Given the description of an element on the screen output the (x, y) to click on. 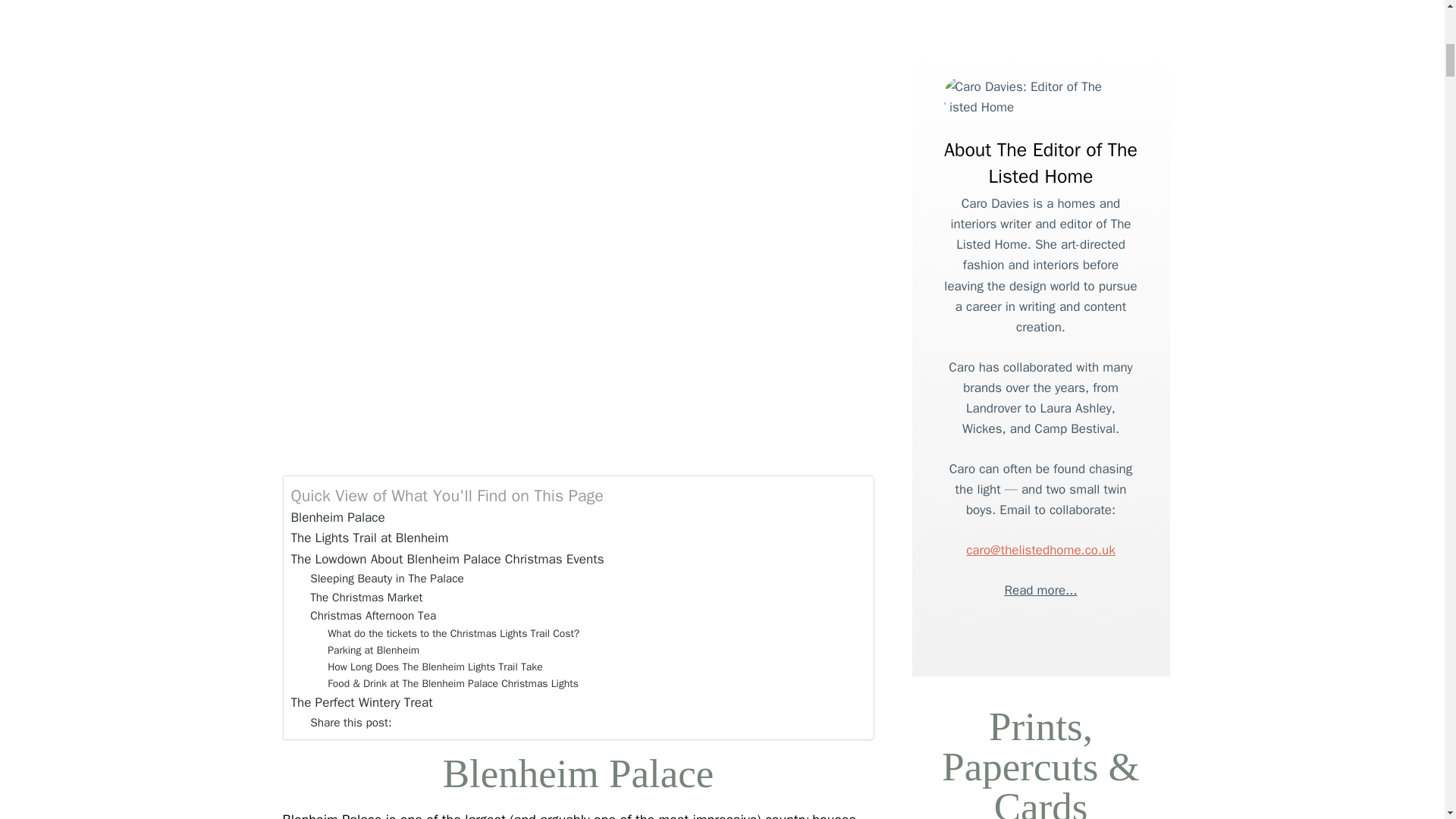
Blenheim Palace (338, 516)
Sleeping Beauty in The Palace (387, 578)
The Lights Trail at Blenheim (369, 537)
The Lowdown About Blenheim Palace Christmas Events (447, 558)
